Given the description of an element on the screen output the (x, y) to click on. 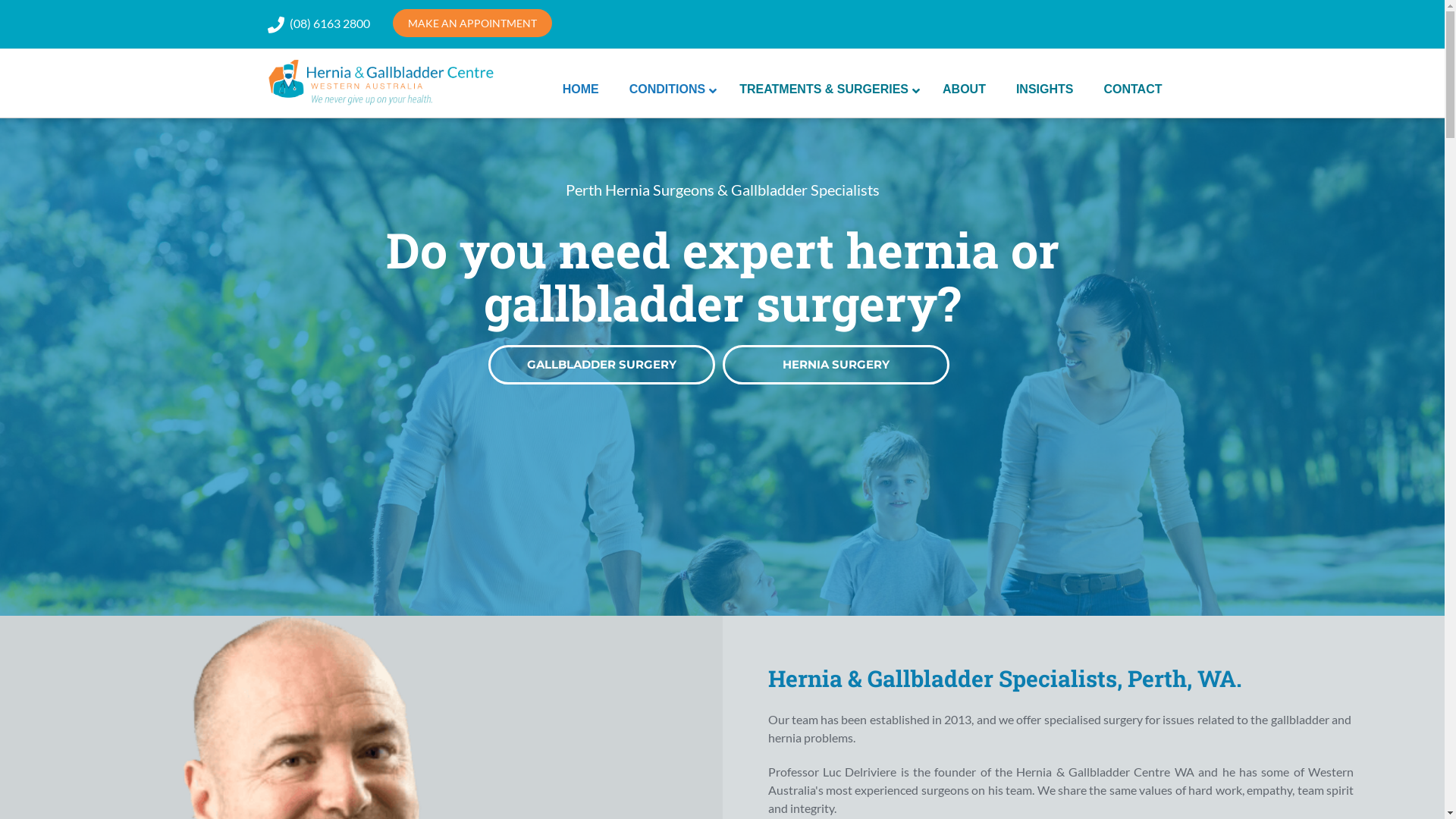
MAKE AN APPOINTMENT Element type: text (472, 23)
GALLBLADDER SURGERY Element type: text (601, 364)
INSIGHTS Element type: text (1044, 89)
CONTACT Element type: text (1132, 89)
ABOUT Element type: text (964, 89)
HOME Element type: text (580, 89)
HERNIA SURGERY Element type: text (834, 364)
(08) 6163 2800 Element type: text (329, 22)
